Given the description of an element on the screen output the (x, y) to click on. 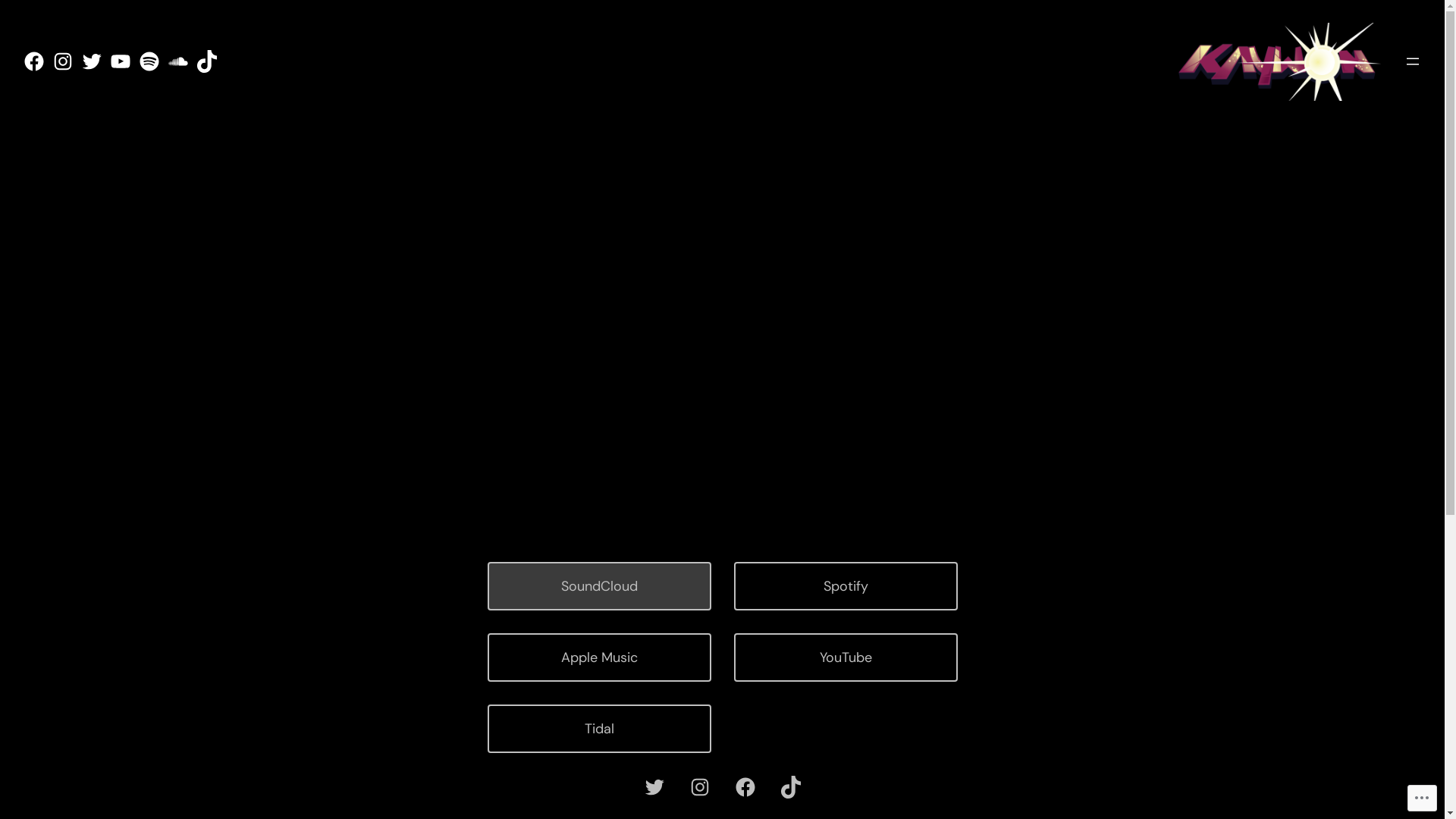
YouTube Element type: text (845, 657)
Tidal Element type: text (598, 728)
Spotify Element type: text (845, 585)
SoundCloud Element type: text (598, 585)
Apple Music Element type: text (598, 657)
